Given the description of an element on the screen output the (x, y) to click on. 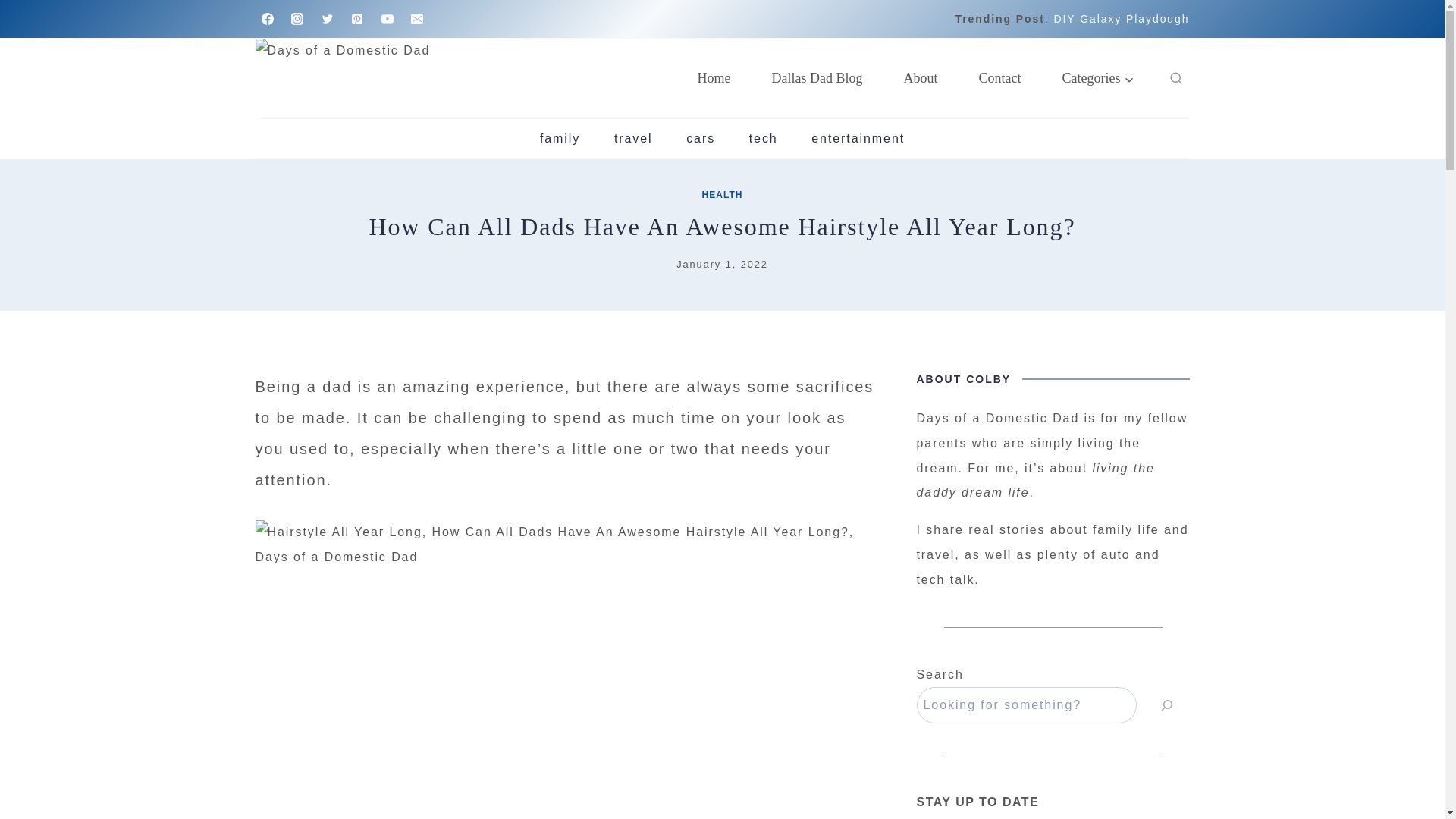
About (920, 78)
family (559, 138)
HEALTH (721, 194)
tech (763, 138)
Dallas Dad Blog (817, 78)
Categories (1098, 78)
Home (714, 78)
cars (700, 138)
DIY Galaxy Playdough (1120, 19)
Contact (1000, 78)
